Given the description of an element on the screen output the (x, y) to click on. 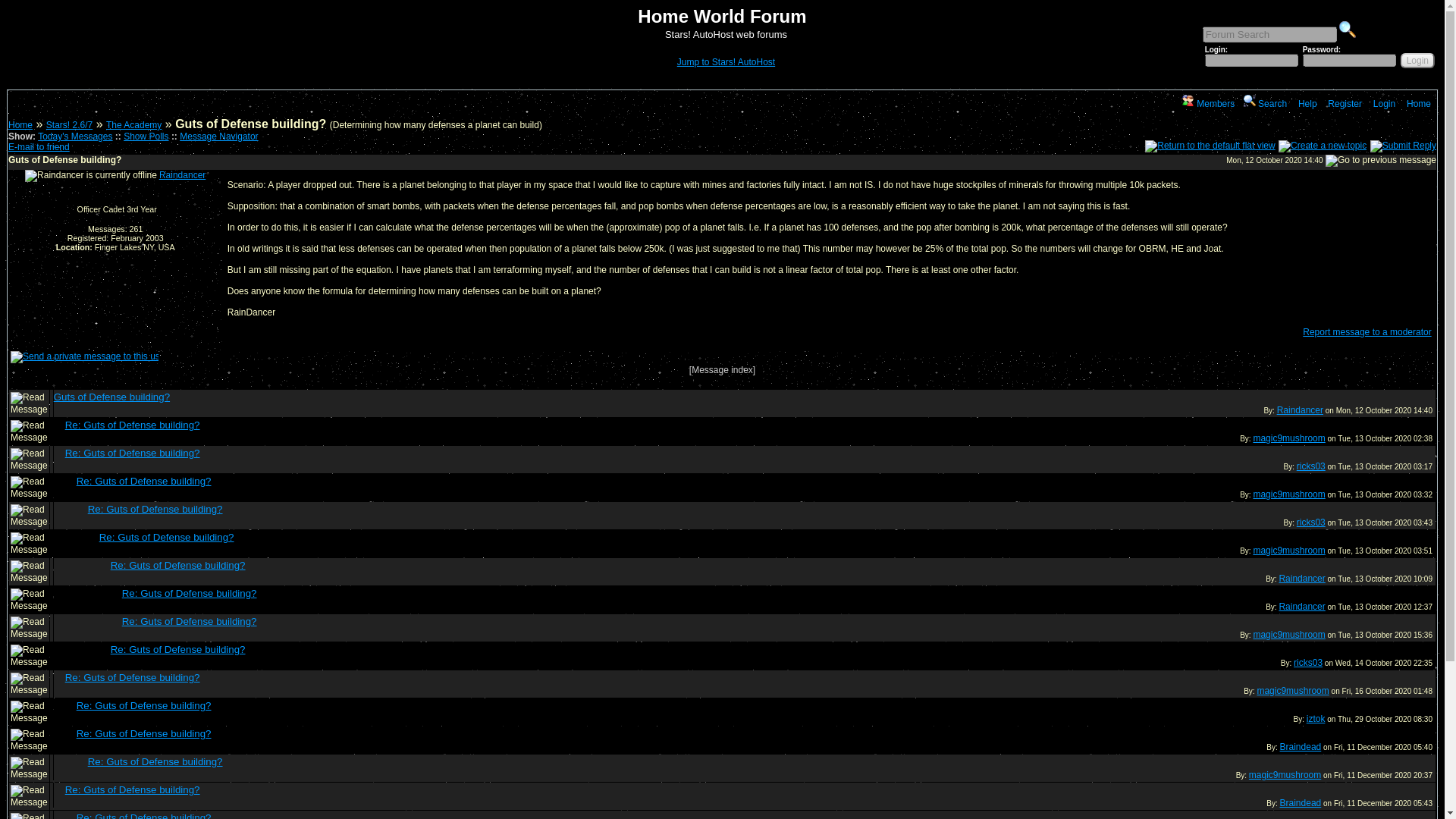
Register (1342, 103)
Search (1347, 29)
Go to next message (1379, 160)
E-mail to friend (38, 146)
Raindancer is currently offline (90, 175)
Login (1383, 103)
magic9mushroom (1288, 438)
Home (20, 124)
magic9mushroom (1288, 493)
Help (1306, 103)
